Given the description of an element on the screen output the (x, y) to click on. 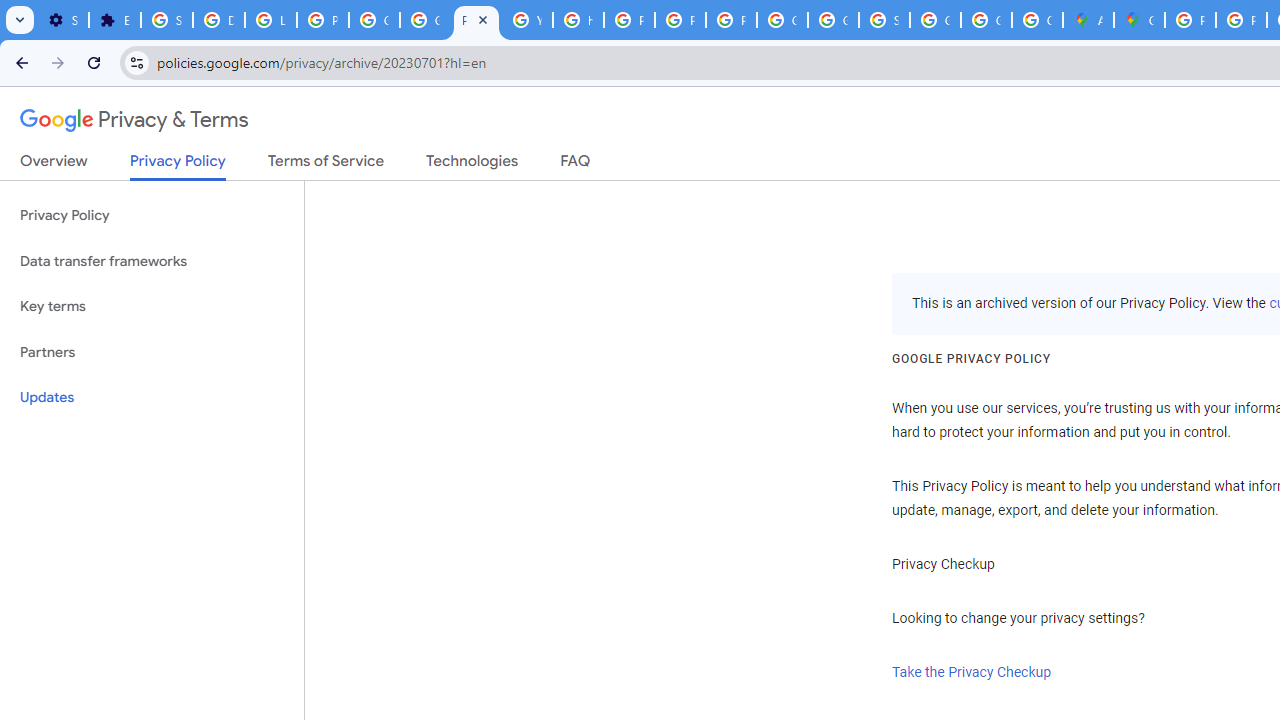
Privacy Help Center - Policies Help (629, 20)
Sign in - Google Accounts (884, 20)
Create your Google Account (1037, 20)
https://scholar.google.com/ (578, 20)
Partners (152, 352)
